Given the description of an element on the screen output the (x, y) to click on. 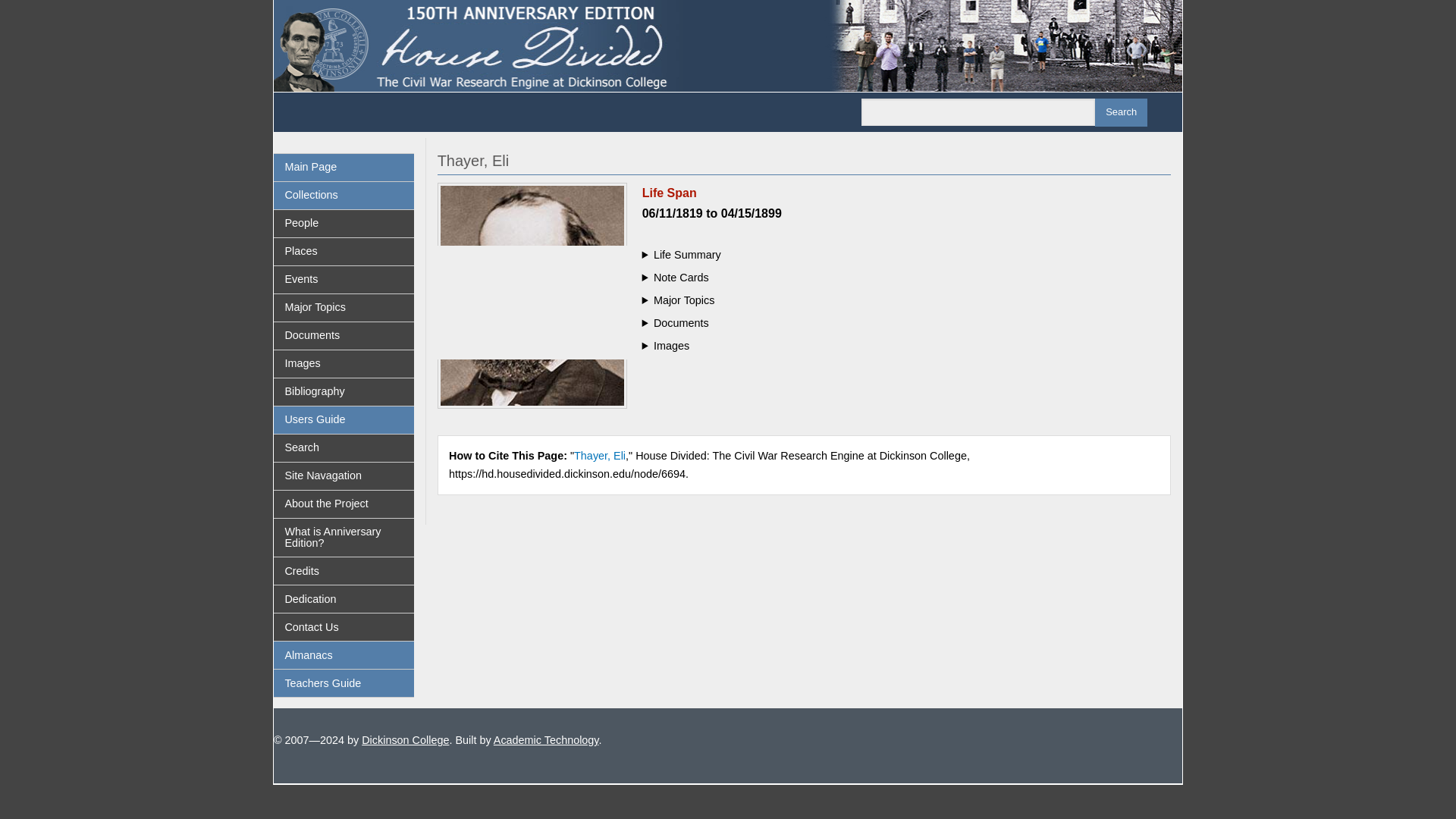
Credits (343, 570)
Places (343, 251)
Site Navagation (343, 475)
Search (343, 447)
Home (727, 44)
Search (1120, 112)
Main Page (343, 166)
Eli Thayer, detail (532, 295)
Dedication (343, 598)
Events (343, 279)
